Given the description of an element on the screen output the (x, y) to click on. 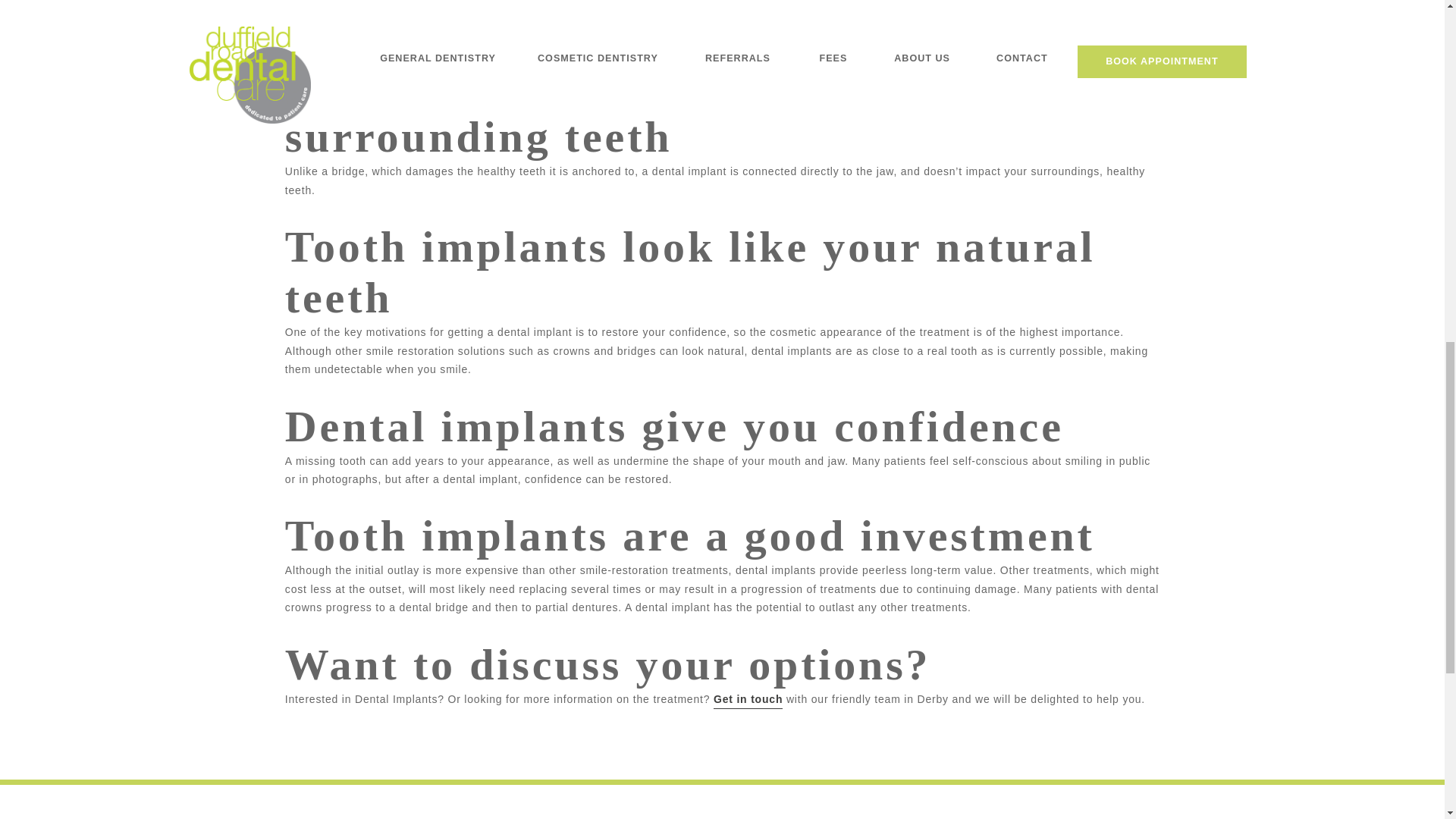
Get in touch (748, 700)
